Given the description of an element on the screen output the (x, y) to click on. 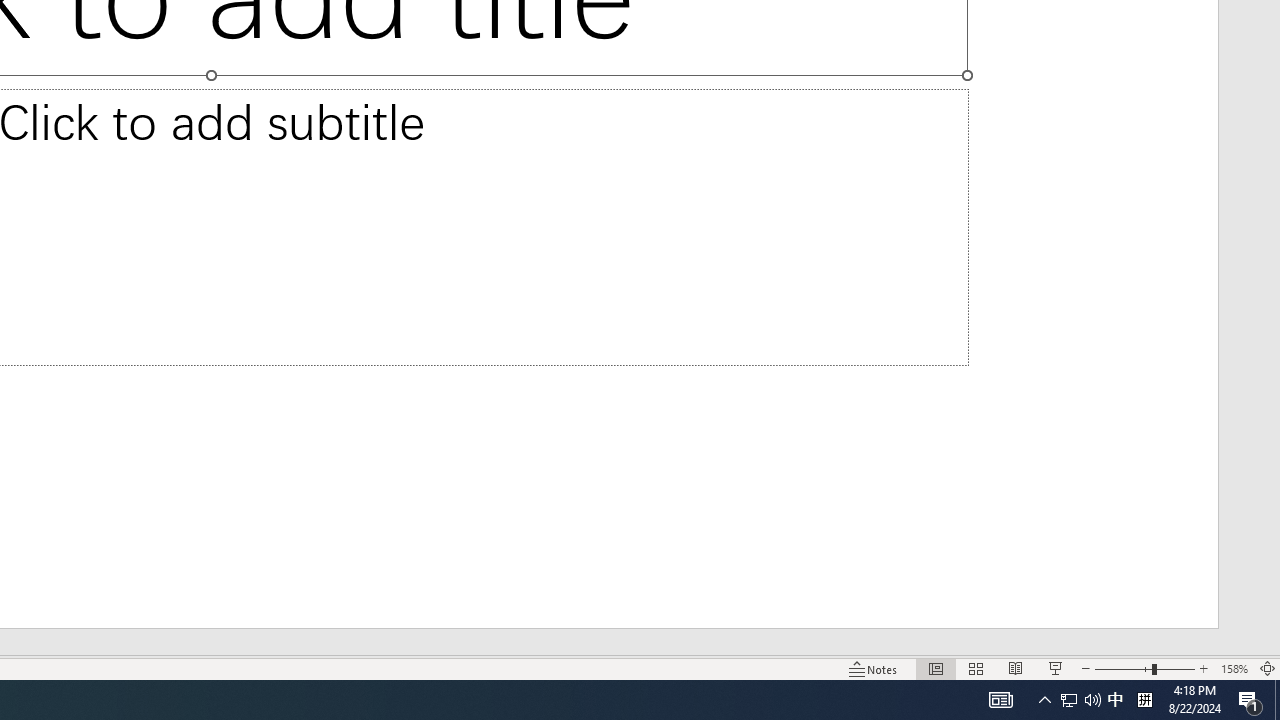
Zoom 158% (1234, 668)
